Given the description of an element on the screen output the (x, y) to click on. 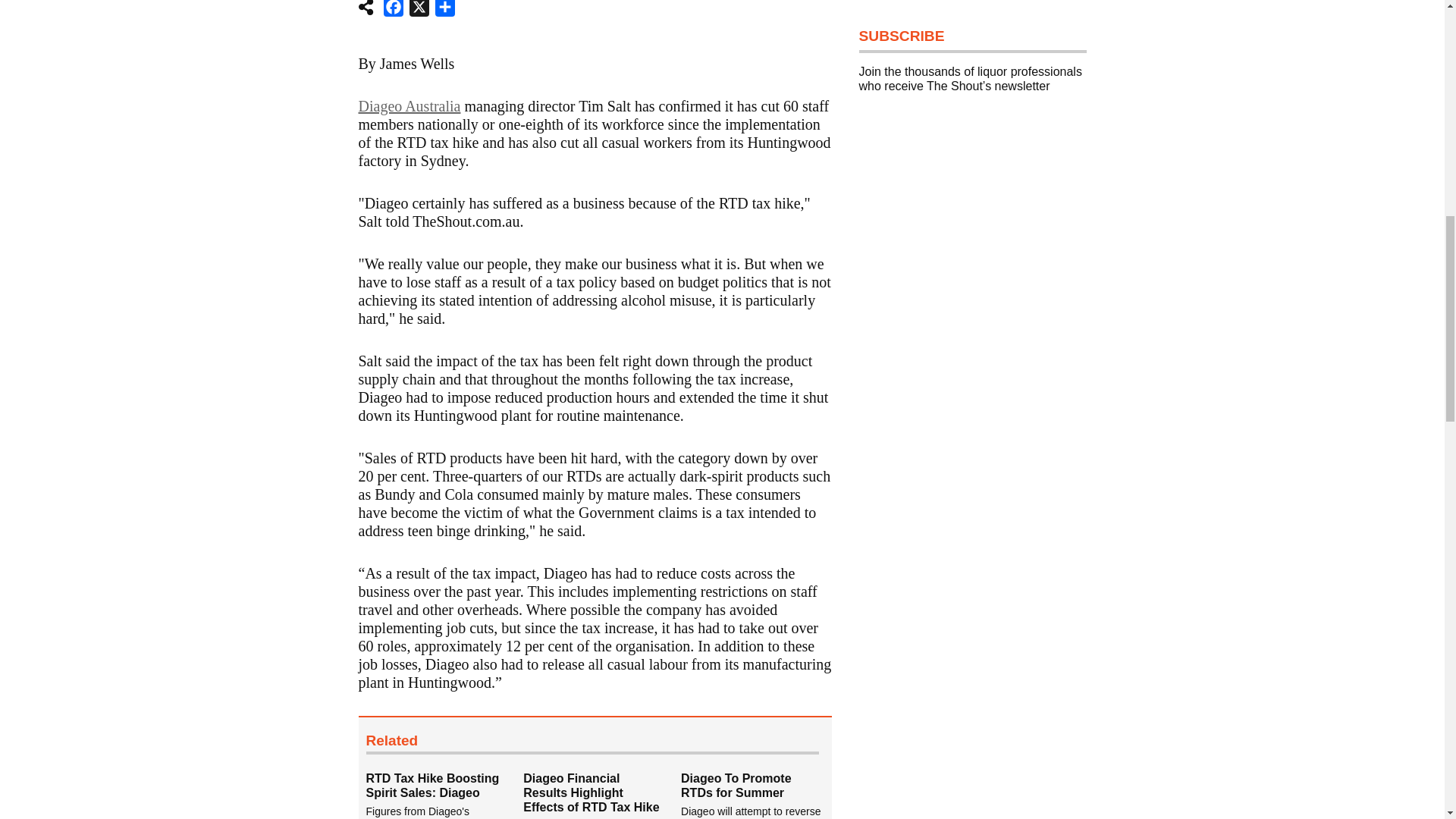
X (419, 11)
Diageo To Promote RTDs for Summer (759, 795)
Diageo Financial Results Highlight Effects of RTD Tax Hike (590, 793)
RTD Tax Hike Boosting Spirit Sales: Diageo (443, 795)
Form 0 (972, 237)
Facebook (393, 11)
RTD Tax Hike Boosting Spirit Sales: Diageo (432, 785)
Diageo To Promote RTDs for Summer (736, 785)
Diageo Financial Results Highlight Effects of RTD Tax Hike (601, 795)
